Given the description of an element on the screen output the (x, y) to click on. 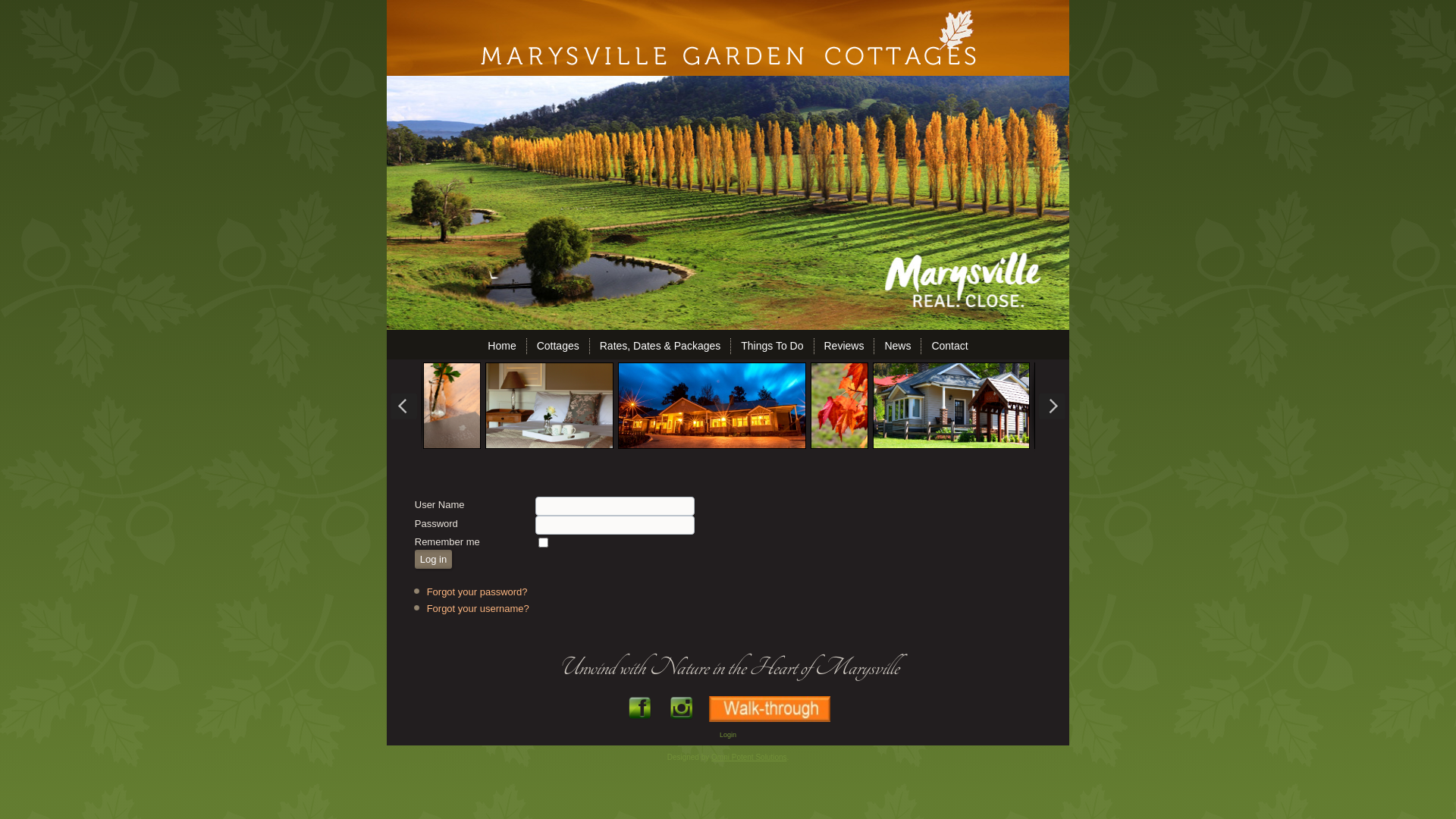
News Element type: text (897, 345)
Reviews Element type: text (843, 345)
Forgot your password? Element type: text (476, 591)
Contact Element type: text (949, 345)
Cottages Element type: text (557, 345)
Login Element type: text (727, 734)
Rates, Dates & Packages Element type: text (660, 345)
Forgot your username? Element type: text (477, 608)
Omni Potent Solutions Element type: text (749, 757)
Log in Element type: text (432, 558)
Home Element type: text (501, 345)
Things To Do Element type: text (771, 345)
